Given the description of an element on the screen output the (x, y) to click on. 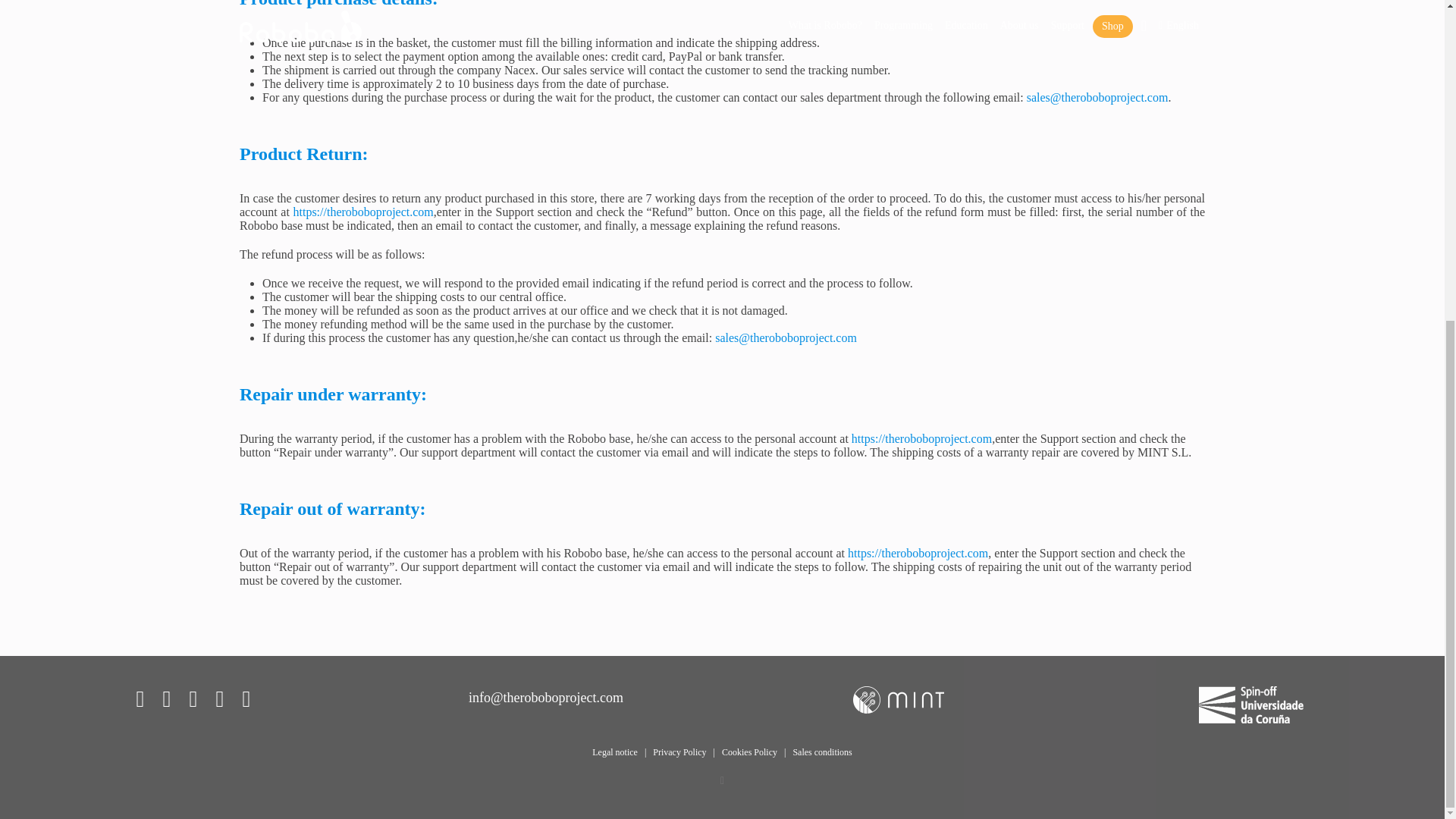
Sales conditions (821, 751)
Legal notice (614, 751)
Privacy Policy (679, 751)
Cookies Policy (749, 751)
